Given the description of an element on the screen output the (x, y) to click on. 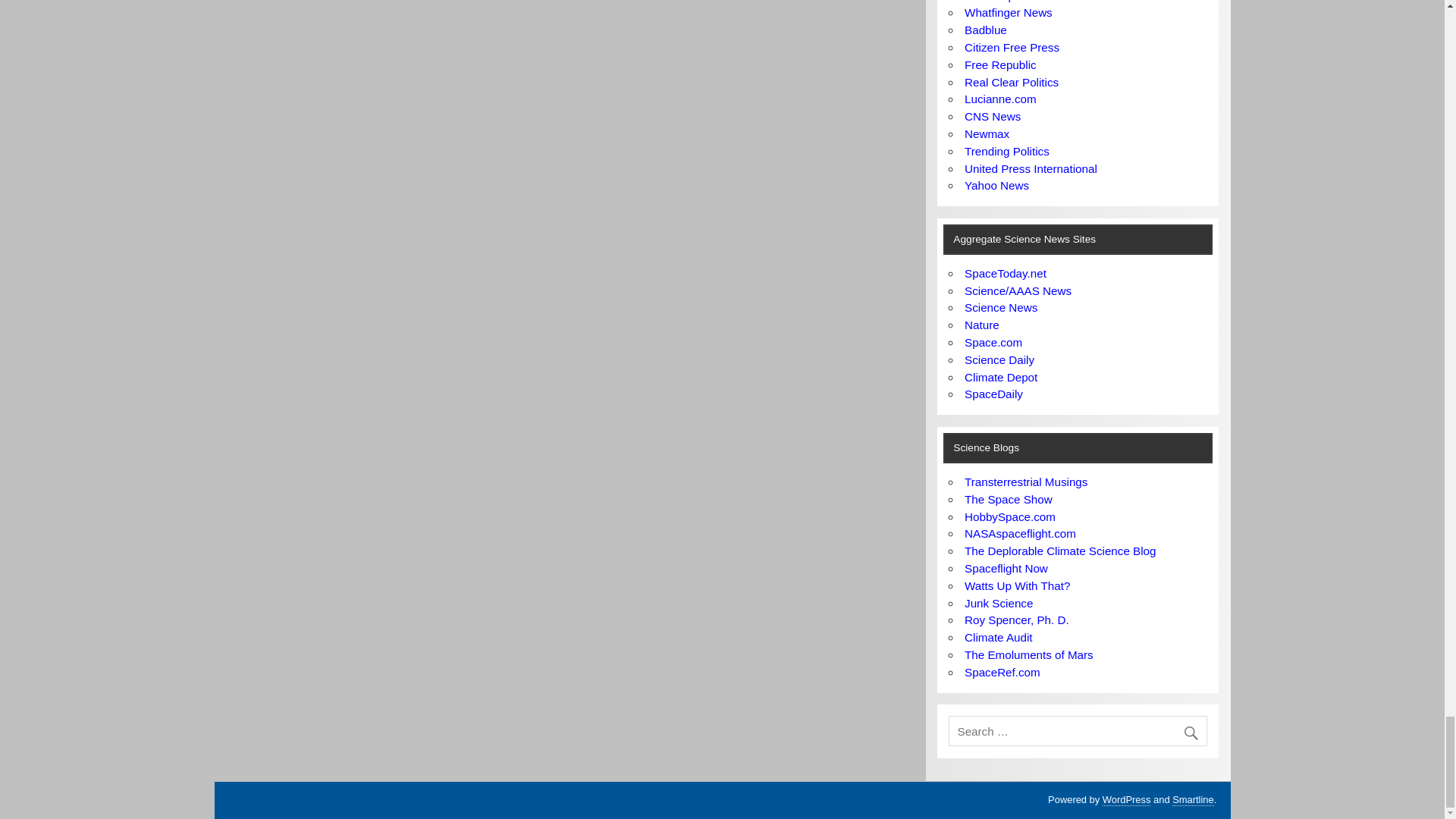
blog for The Space Show (1007, 499)
Space news source (993, 393)
Climate science (1015, 619)
Science and climate reporting (997, 603)
News feed of space related stories on the web (1004, 273)
Science news source (998, 359)
Science news source (1017, 290)
climate research (997, 636)
Climate science from a skeptical perspective (999, 377)
Climate and science news from a skeptical perspective (1016, 585)
